Given the description of an element on the screen output the (x, y) to click on. 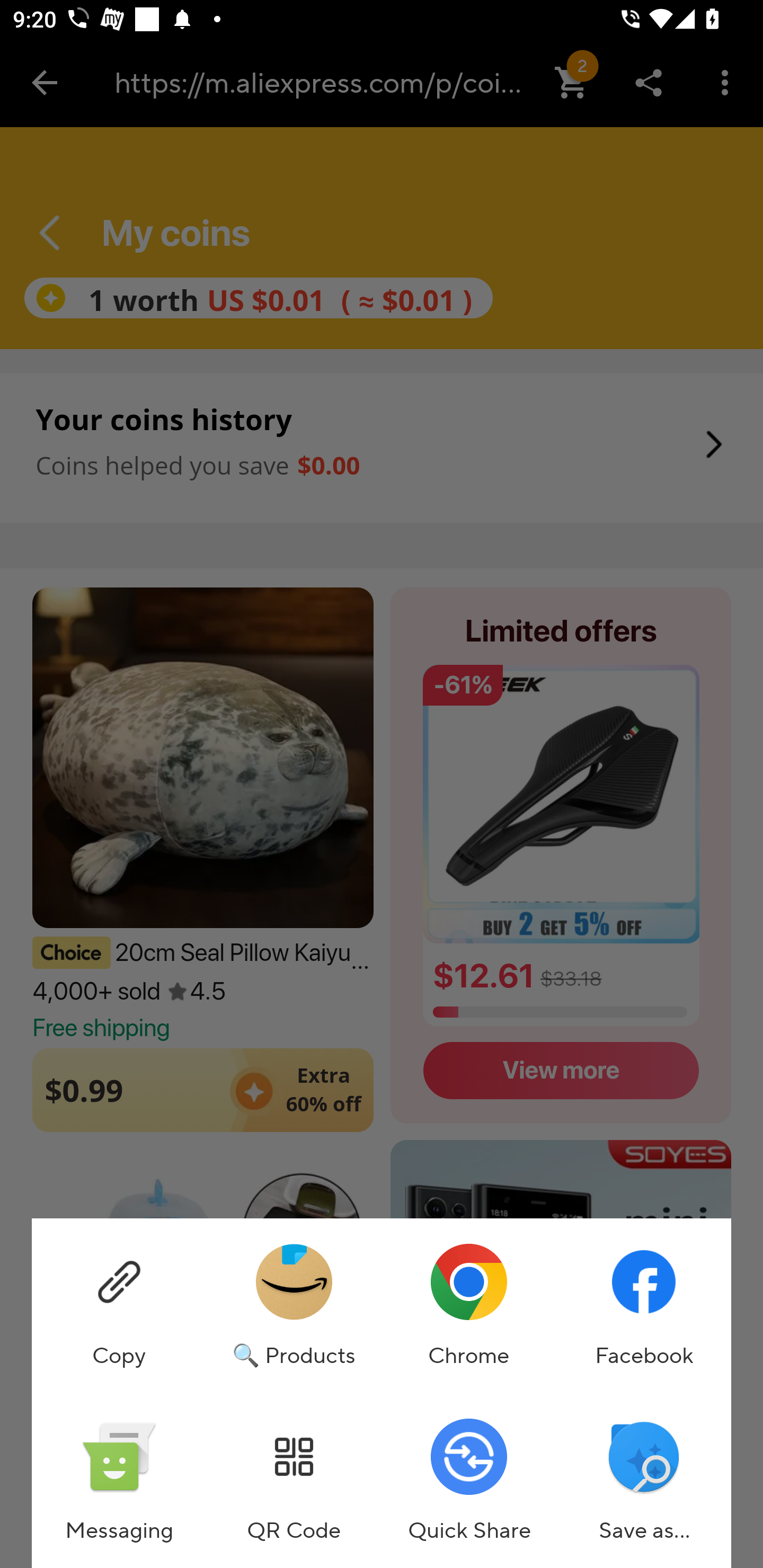
Copy (119, 1305)
🔍 Products (293, 1305)
Chrome (468, 1305)
Facebook (643, 1305)
Messaging (119, 1480)
QR Code (293, 1480)
Quick Share (468, 1480)
Save as… (643, 1480)
